Given the description of an element on the screen output the (x, y) to click on. 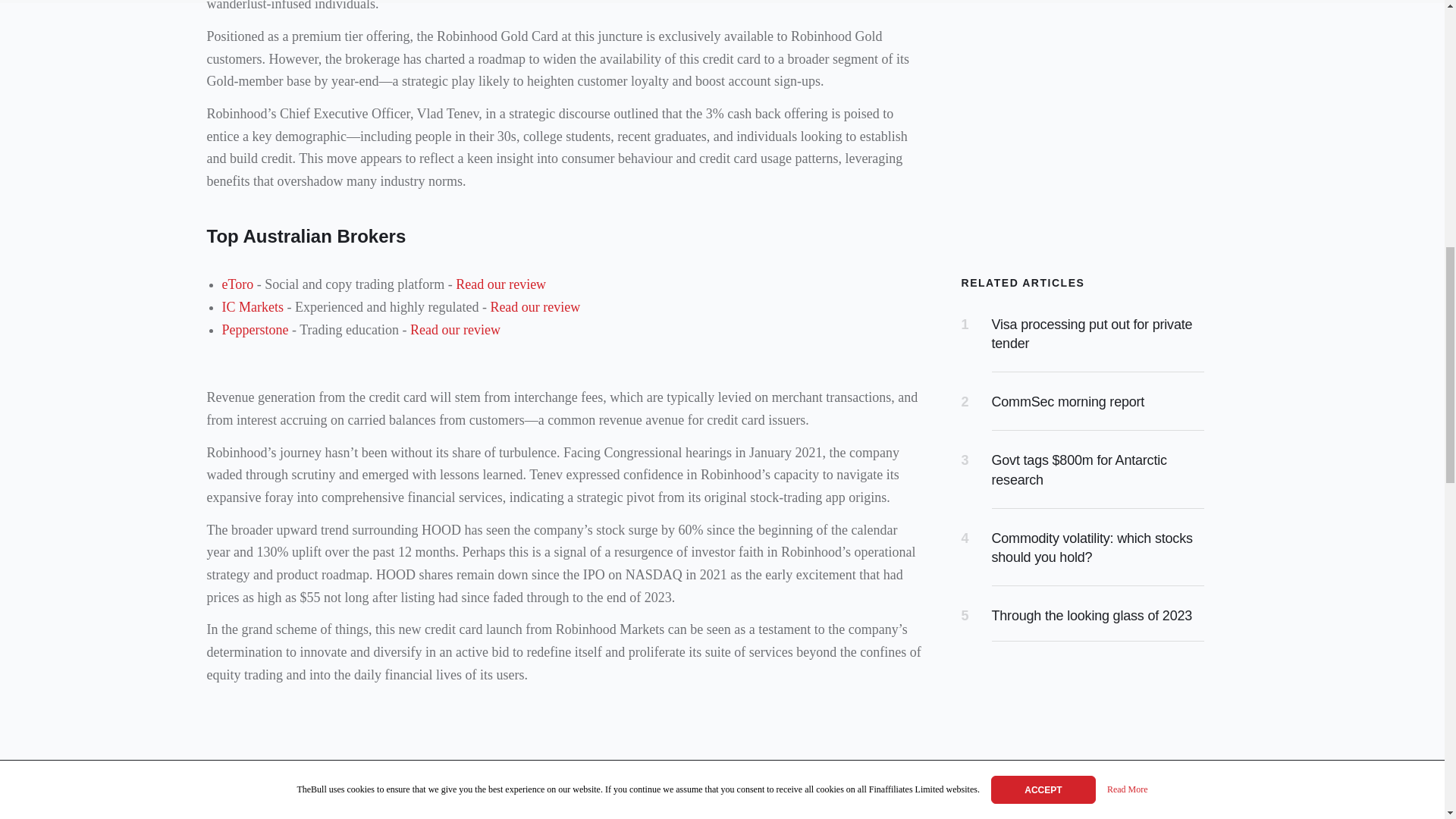
Visa processing put out for private tender (1091, 333)
Read our review (500, 283)
IC Markets (251, 306)
Commodity volatility: which stocks should you hold? (1091, 547)
Visa processing put out for private tender (1091, 333)
Through the looking glass of 2023 (1091, 615)
Commodity volatility: which stocks should you hold? (1091, 547)
Through the looking glass of 2023 (1091, 615)
Pepperstone (254, 329)
Read our review (534, 306)
